Given the description of an element on the screen output the (x, y) to click on. 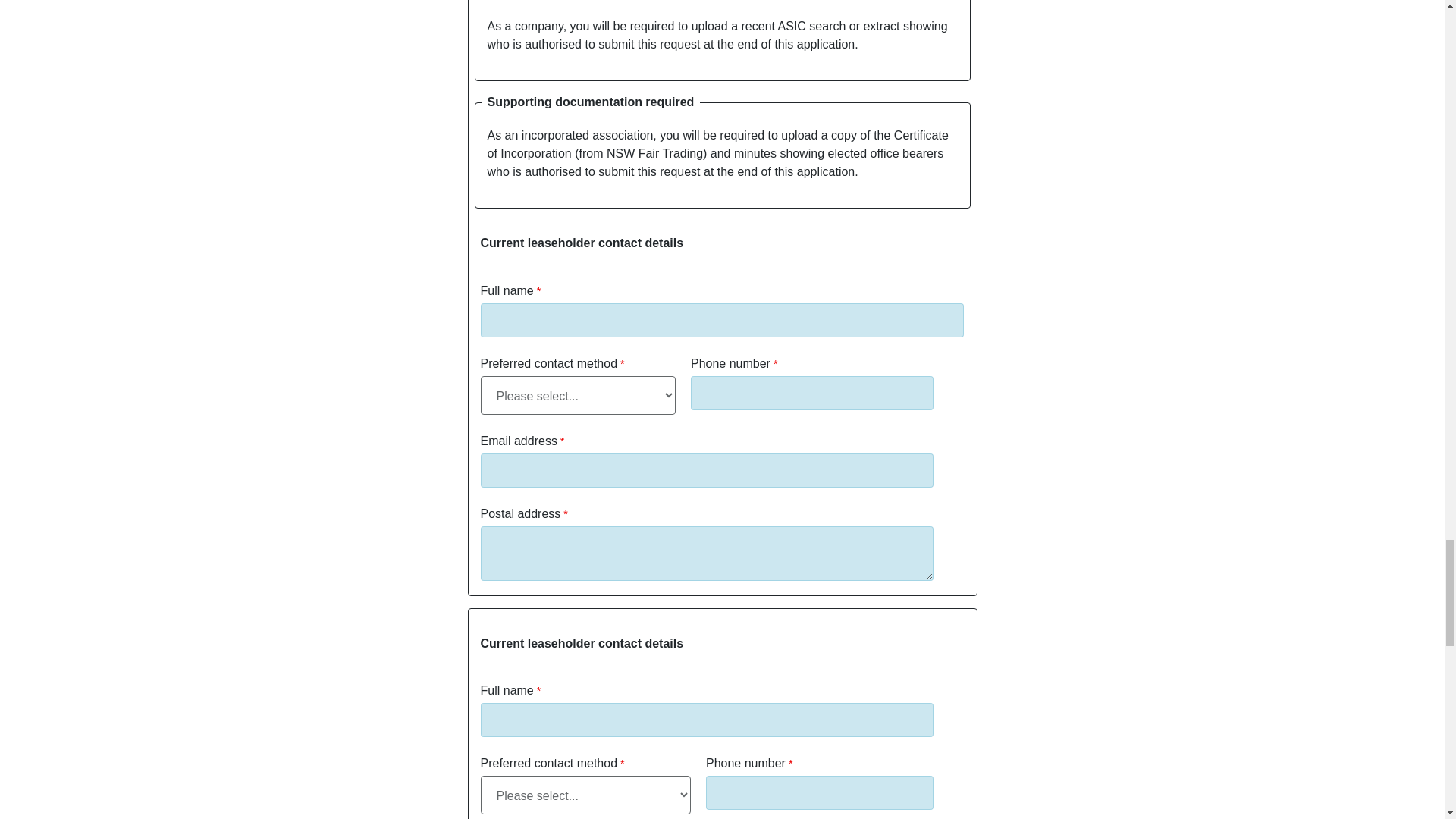
Preferred contact method (577, 394)
Phone number (811, 392)
Postal address (706, 553)
Email address (706, 470)
Full name (706, 719)
Full name (721, 320)
